Given the description of an element on the screen output the (x, y) to click on. 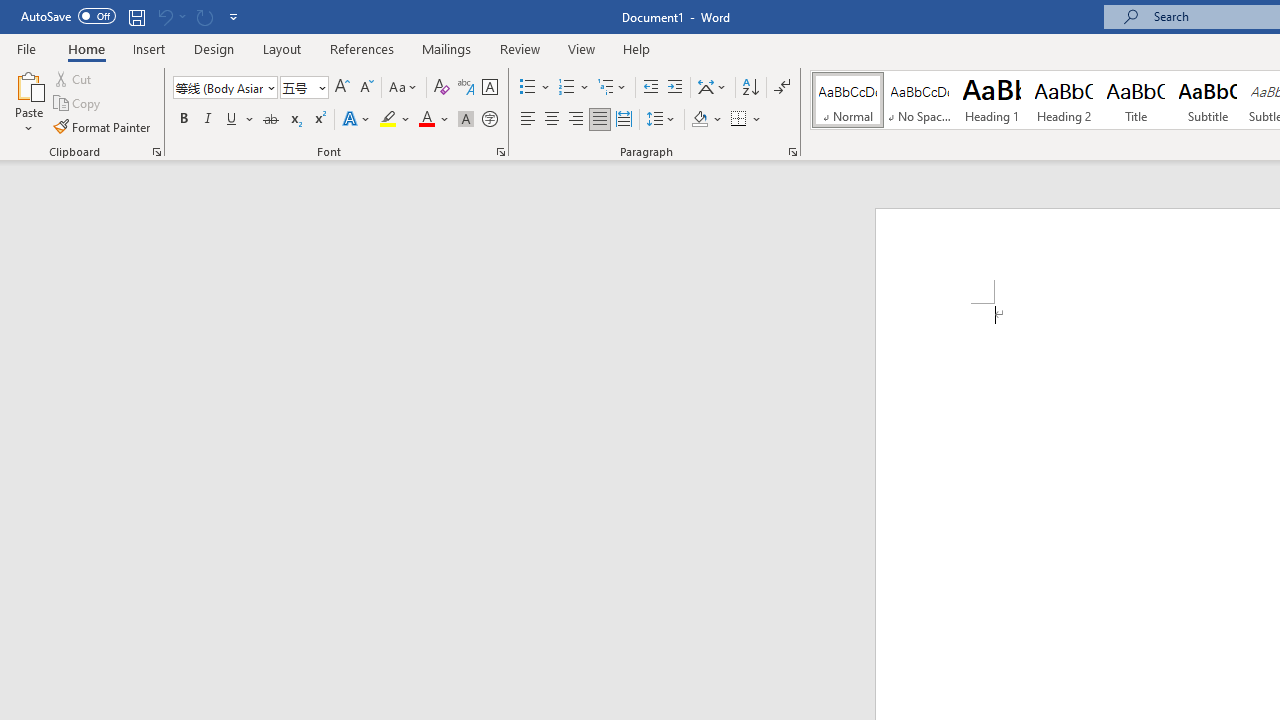
Can't Undo (164, 15)
